Given the description of an element on the screen output the (x, y) to click on. 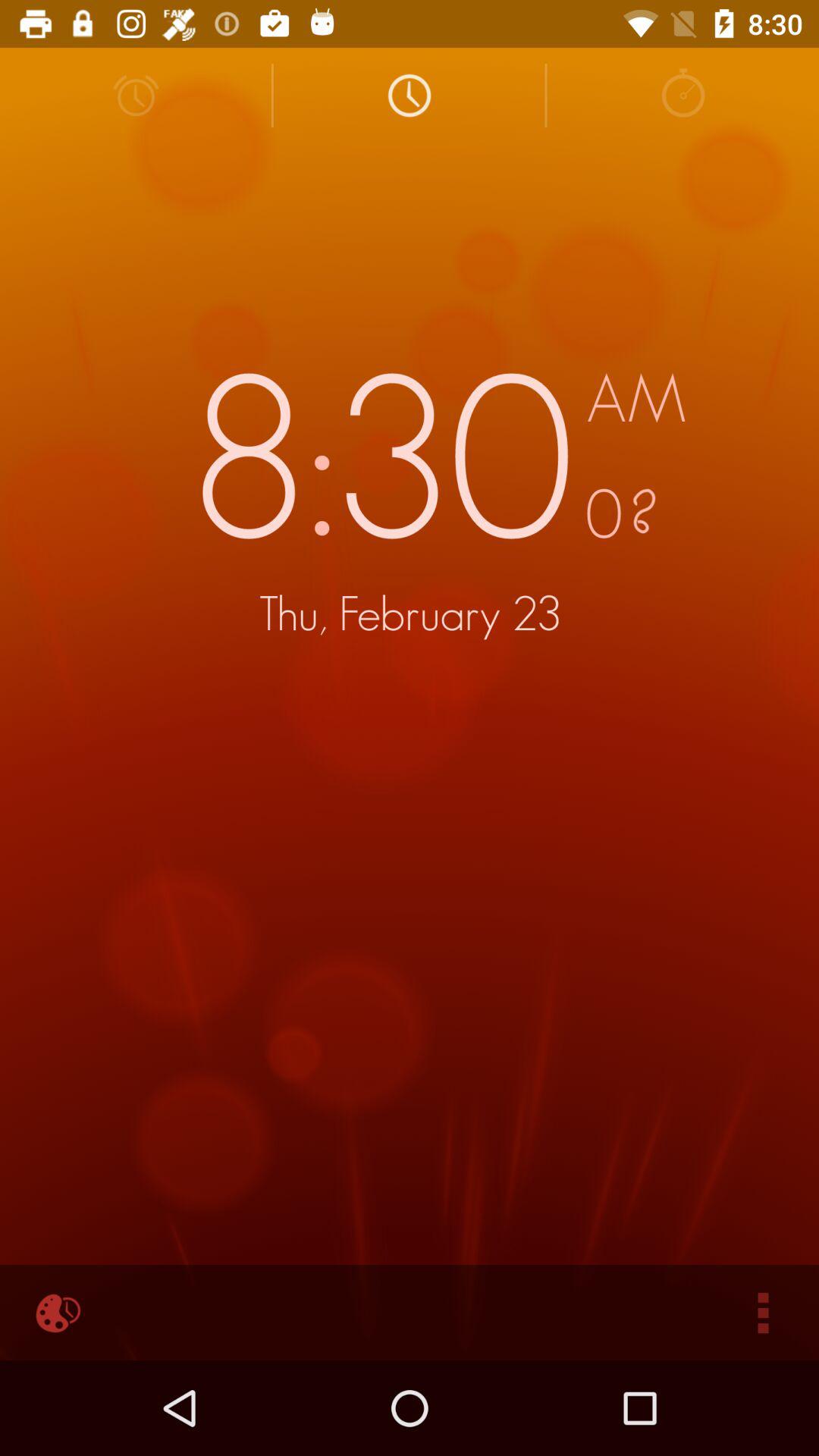
launch icon at the bottom right corner (763, 1312)
